Given the description of an element on the screen output the (x, y) to click on. 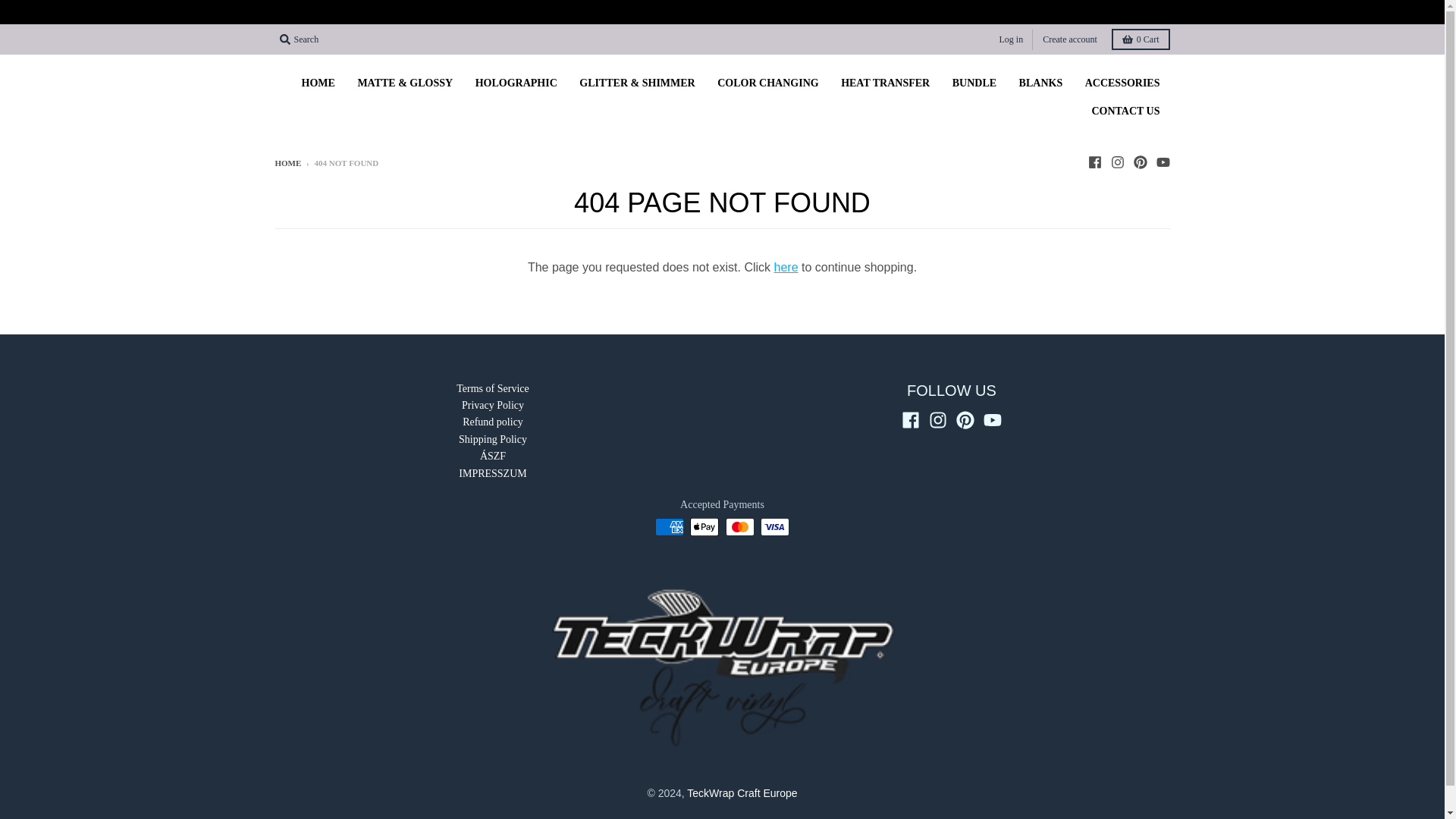
Facebook - TeckWrap Craft Europe (1093, 161)
Log in (1010, 38)
Instagram - TeckWrap Craft Europe (1116, 161)
CONTACT US (1125, 111)
Back to the frontpage (288, 162)
YouTube - TeckWrap Craft Europe (992, 420)
COLOR CHANGING (767, 83)
Pinterest - TeckWrap Craft Europe (1139, 161)
Pinterest - TeckWrap Craft Europe (965, 420)
Instagram - TeckWrap Craft Europe (937, 420)
Create account (1070, 38)
HEAT TRANSFER (885, 83)
Search (299, 38)
Facebook - TeckWrap Craft Europe (910, 420)
HOME (288, 162)
